Given the description of an element on the screen output the (x, y) to click on. 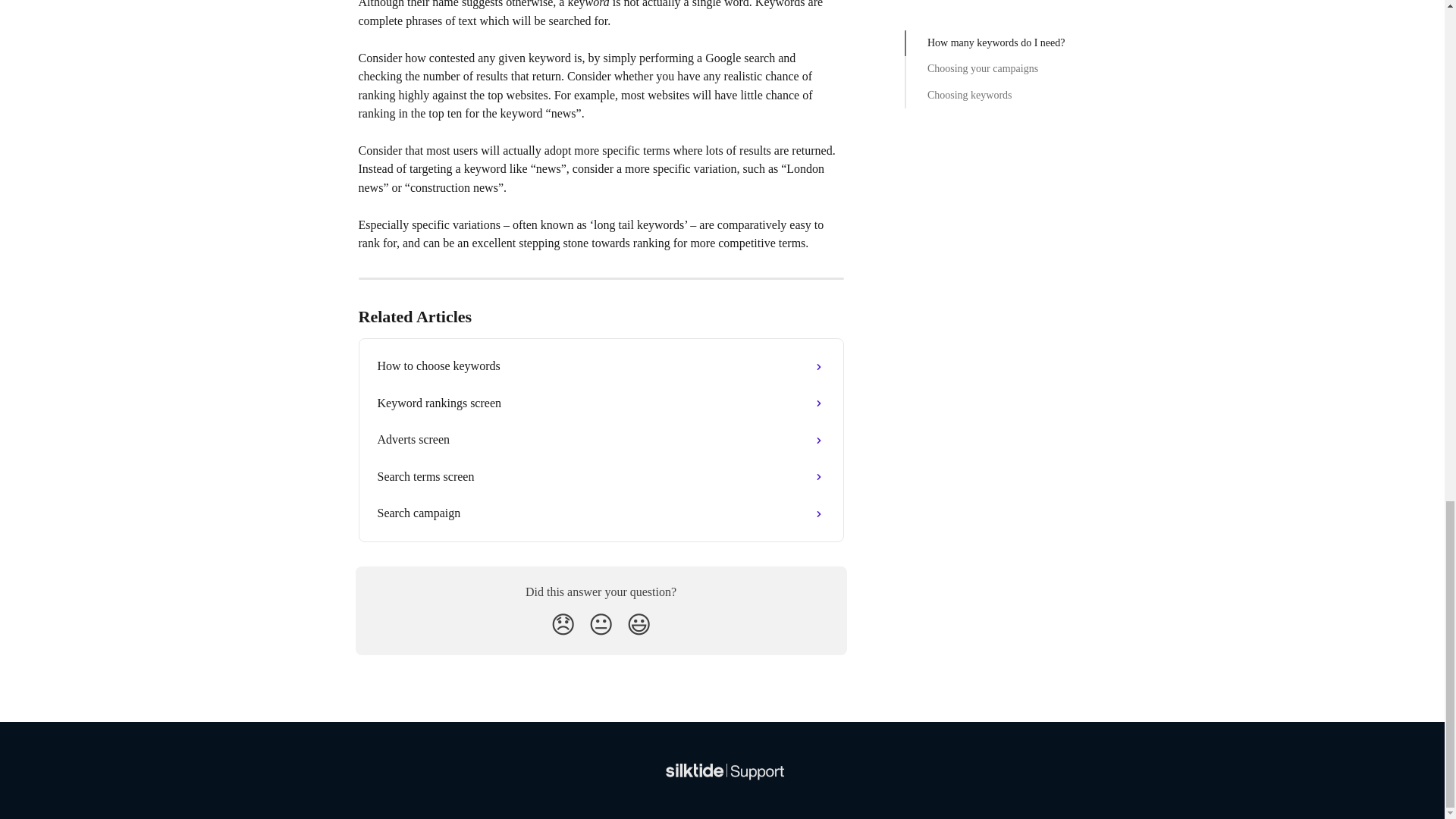
Neutral (600, 624)
How to choose keywords (601, 366)
Search terms screen (601, 476)
Keyword rankings screen (601, 402)
Adverts screen (601, 439)
Disappointed (562, 624)
Smiley (638, 624)
Search campaign (601, 513)
